Given the description of an element on the screen output the (x, y) to click on. 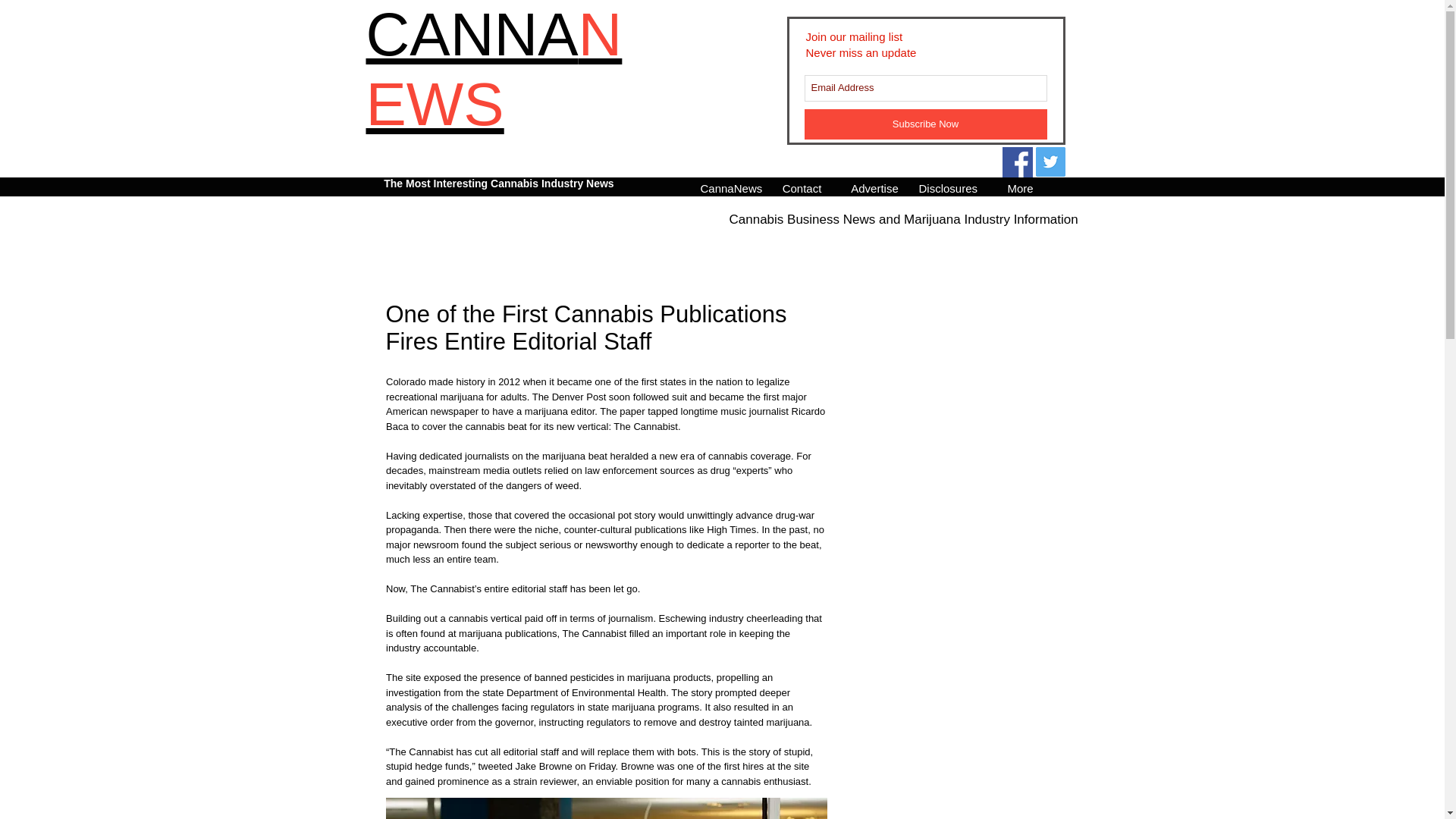
Contact (801, 186)
Disclosures (947, 186)
Advertise (874, 186)
CANNANEWS (493, 69)
CannaNews (729, 186)
Subscribe Now (924, 123)
